Given the description of an element on the screen output the (x, y) to click on. 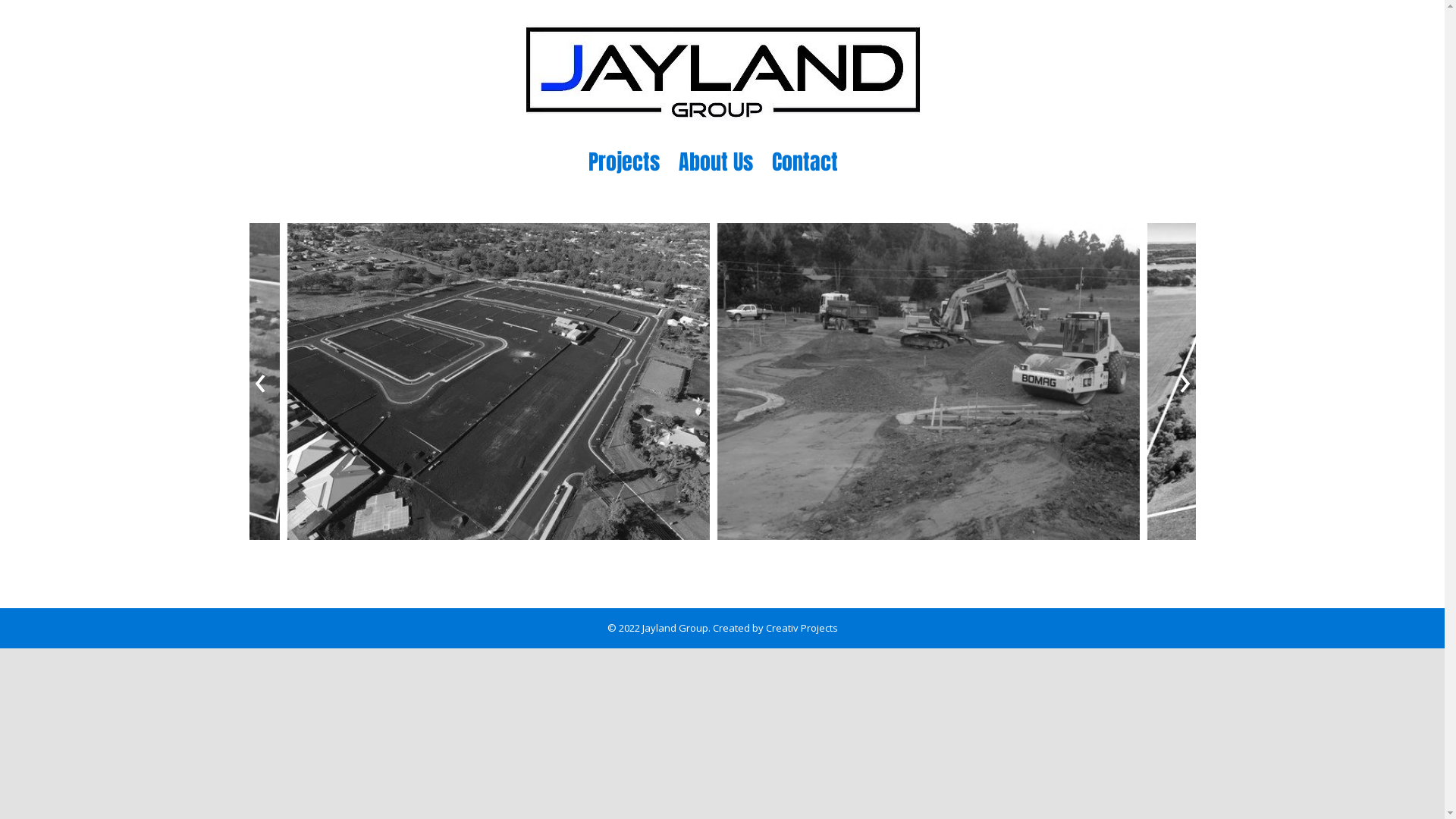
Projects Element type: text (623, 161)
Contact Element type: text (804, 161)
About Us Element type: text (714, 161)
